Given the description of an element on the screen output the (x, y) to click on. 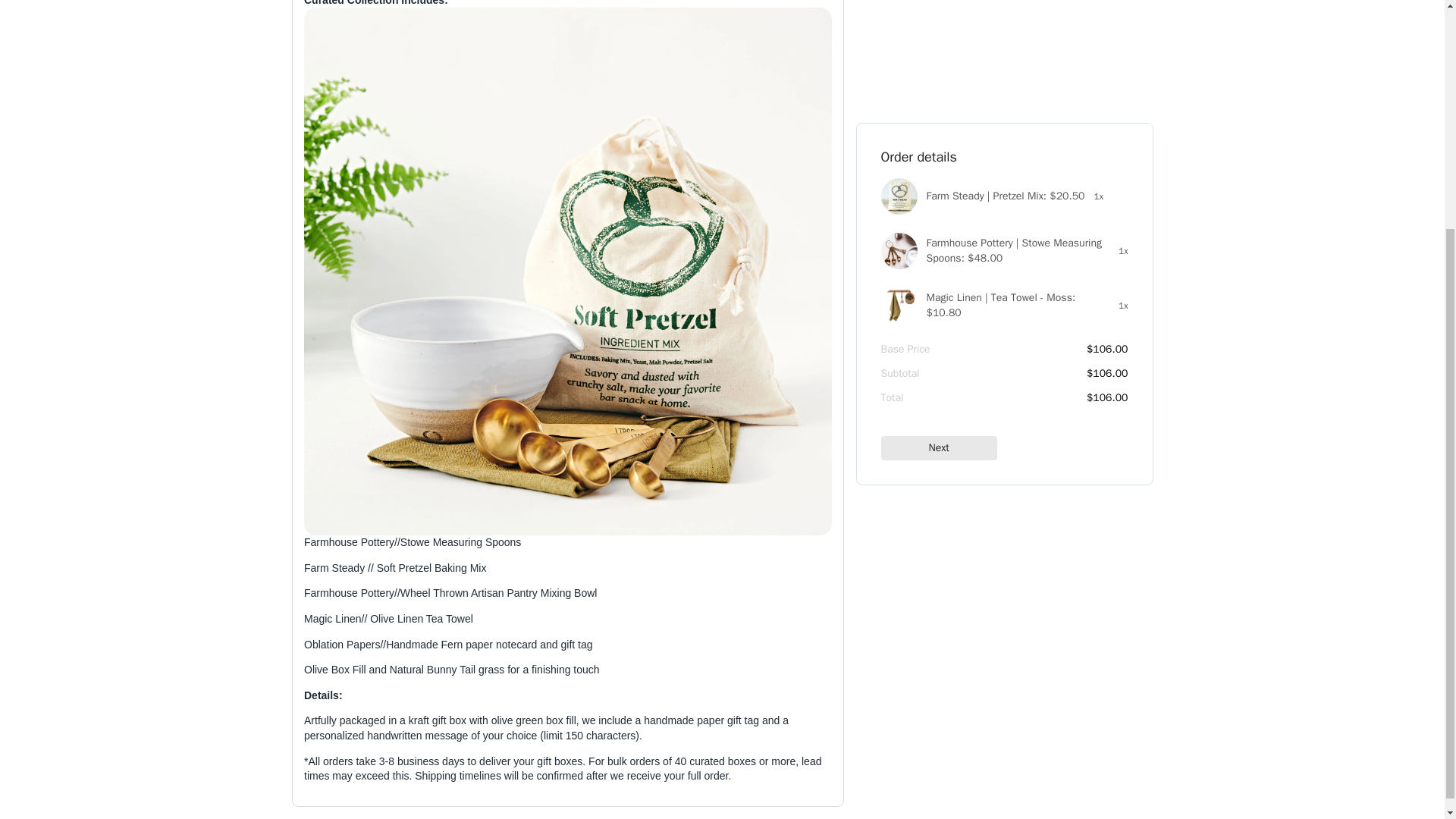
Next (938, 184)
